Given the description of an element on the screen output the (x, y) to click on. 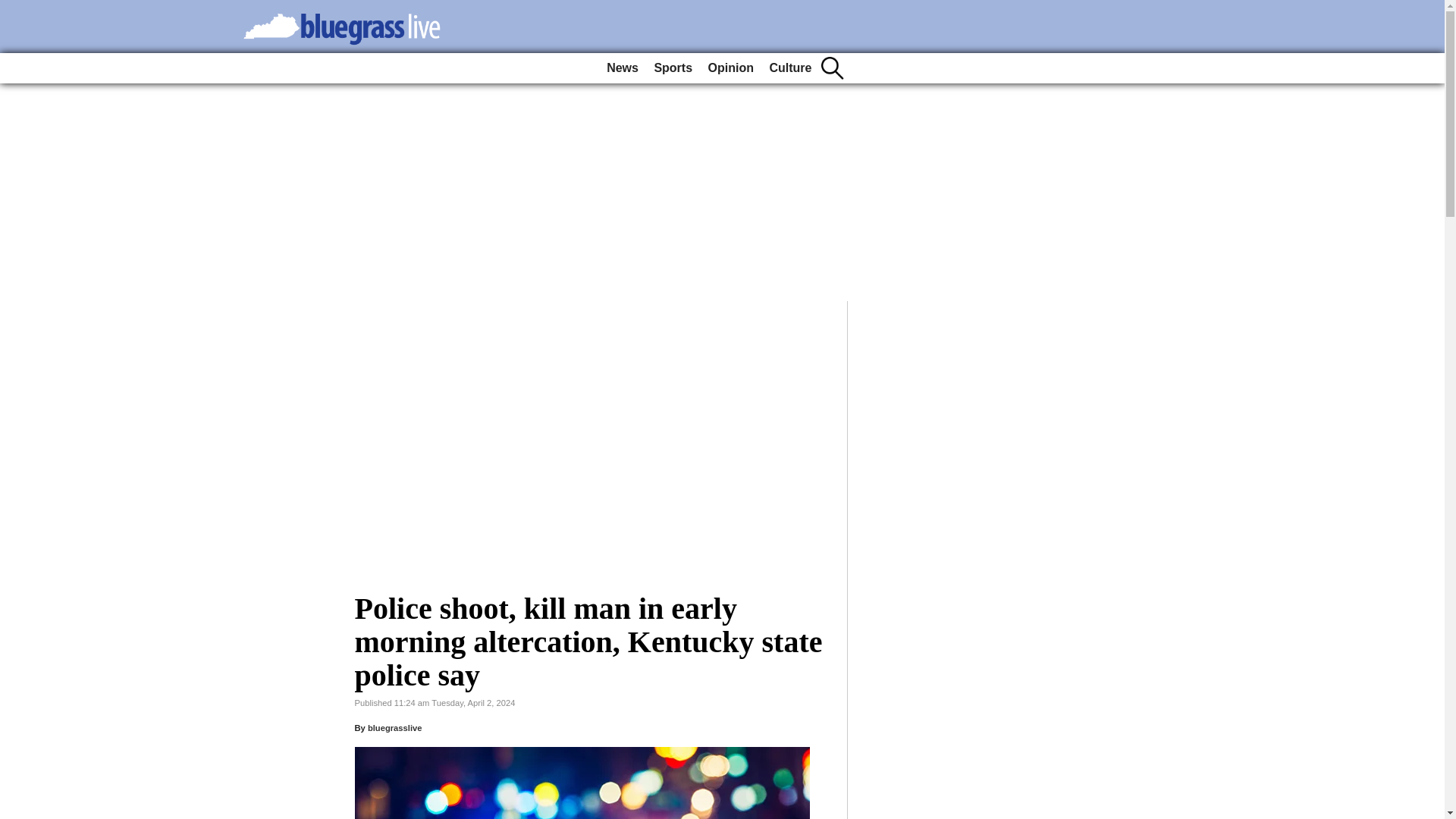
News (622, 68)
Culture (789, 68)
Go (13, 9)
Sports (672, 68)
bluegrasslive (395, 727)
Opinion (730, 68)
